Given the description of an element on the screen output the (x, y) to click on. 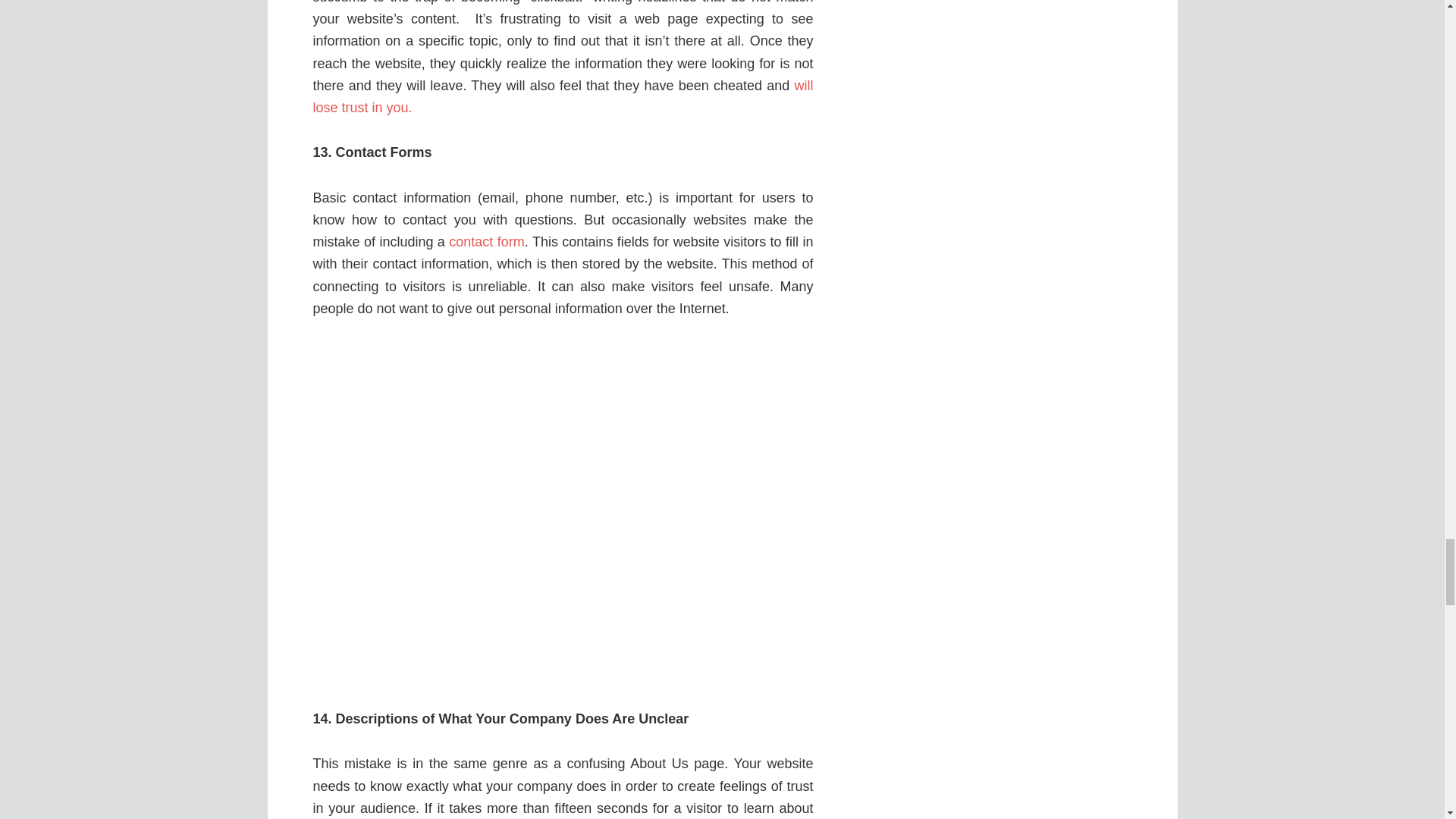
contact form (486, 241)
will lose trust in you. (562, 96)
